Given the description of an element on the screen output the (x, y) to click on. 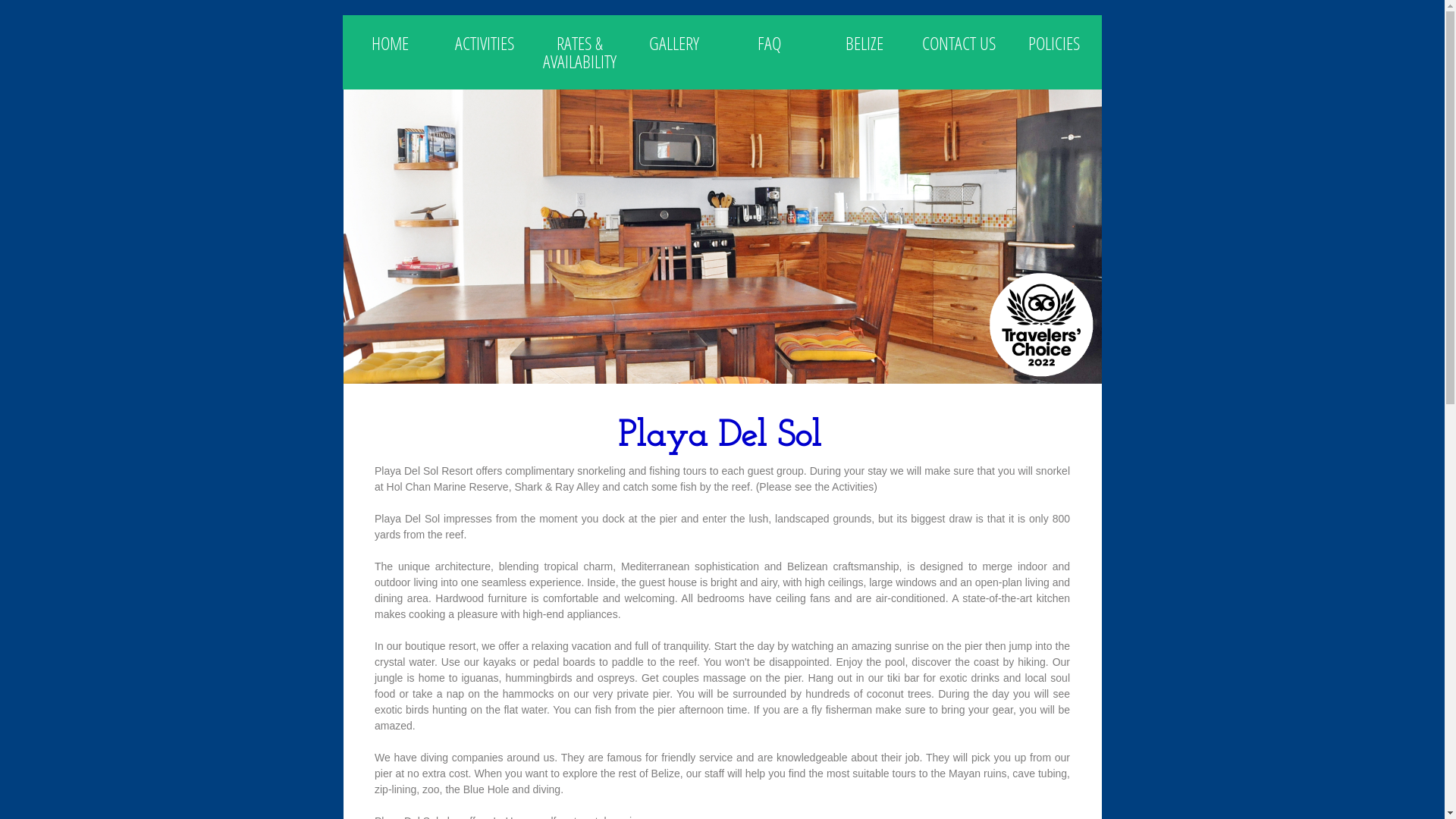
RATES & AVAILABILITY Element type: text (579, 52)
CONTACT US Element type: text (958, 43)
HOME Element type: text (389, 43)
BELIZE Element type: text (863, 43)
GALLERY Element type: text (674, 43)
FAQ Element type: text (768, 43)
ACTIVITIES Element type: text (484, 43)
POLICIES Element type: text (1053, 43)
